Given the description of an element on the screen output the (x, y) to click on. 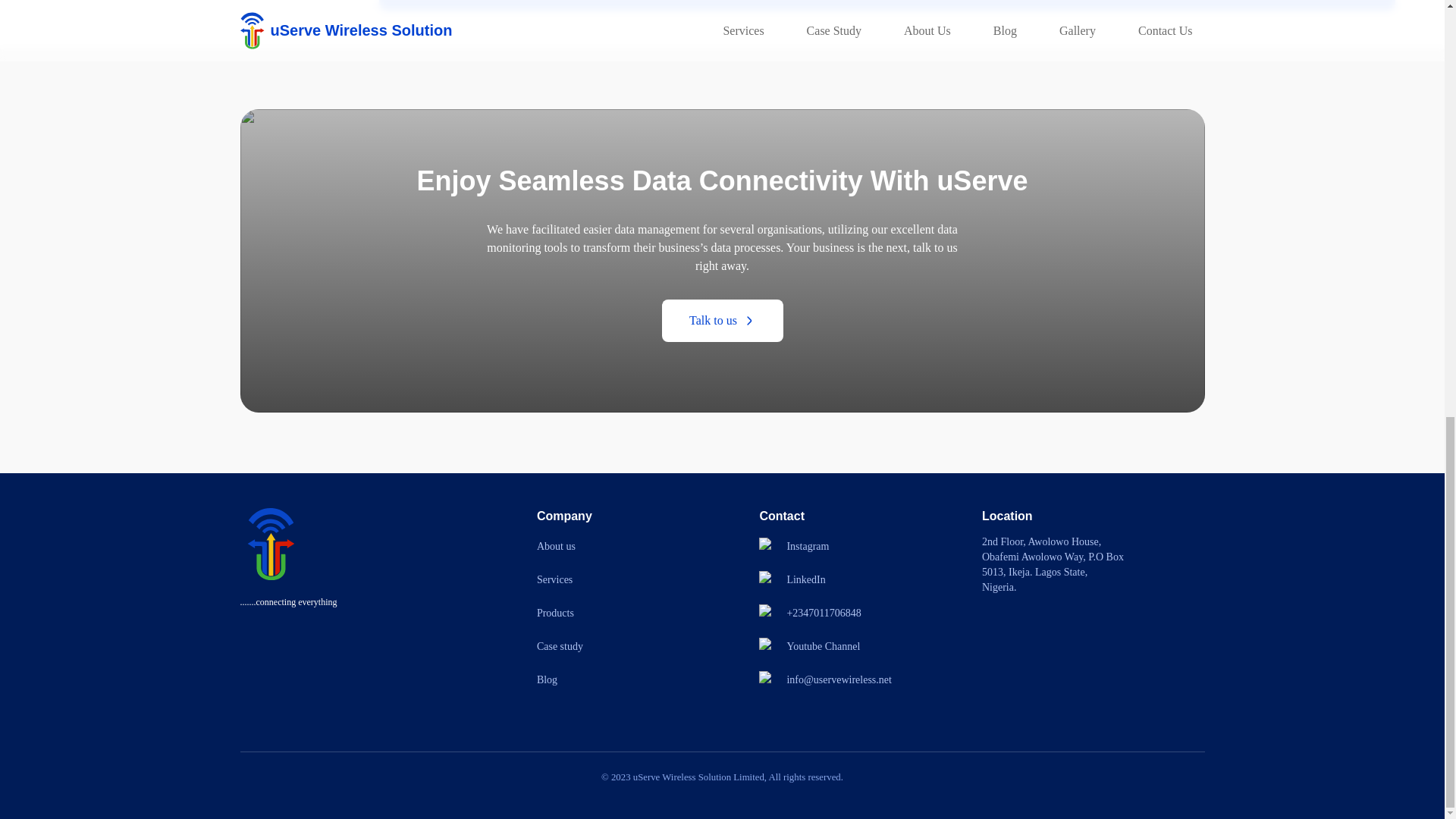
Case study (560, 646)
About us (556, 546)
Youtube Channel (823, 646)
Talk to us (722, 320)
Talk to us (721, 320)
Products (555, 613)
Instagram (807, 546)
LinkedIn (805, 580)
Services (554, 580)
